Given the description of an element on the screen output the (x, y) to click on. 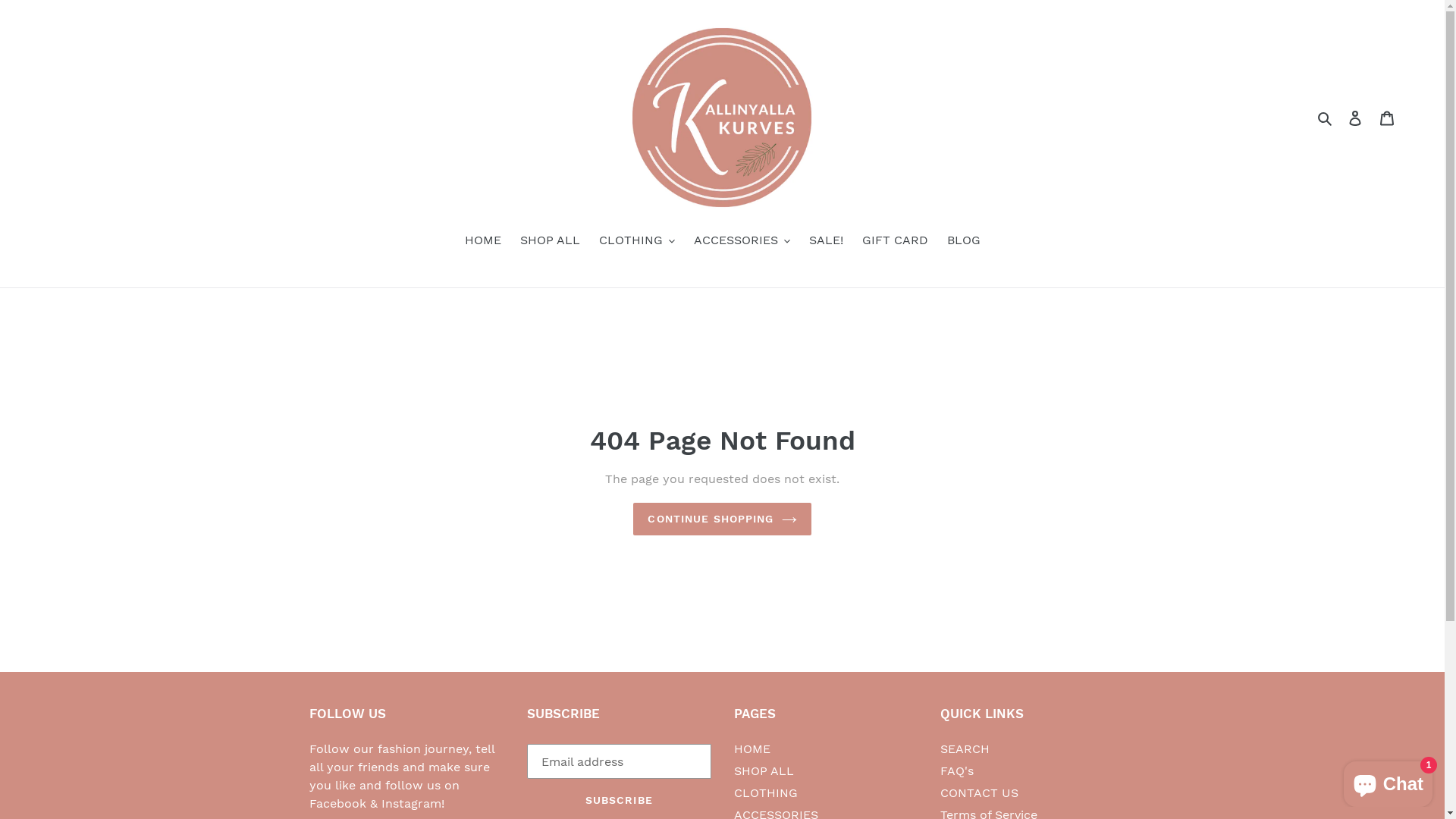
HOME Element type: text (752, 748)
Shopify online store chat Element type: hover (1388, 780)
SALE! Element type: text (825, 241)
HOME Element type: text (482, 241)
SHOP ALL Element type: text (549, 241)
Search Element type: text (1325, 117)
FAQ's Element type: text (956, 770)
SHOP ALL Element type: text (763, 770)
CLOTHING Element type: text (636, 241)
CONTINUE SHOPPING Element type: text (721, 518)
SUBSCRIBE Element type: text (619, 799)
Log in Element type: text (1355, 117)
CONTACT US Element type: text (979, 792)
SEARCH Element type: text (964, 748)
ACCESSORIES Element type: text (741, 241)
CLOTHING Element type: text (765, 792)
Cart Element type: text (1386, 117)
BLOG Element type: text (962, 241)
GIFT CARD Element type: text (894, 241)
